Given the description of an element on the screen output the (x, y) to click on. 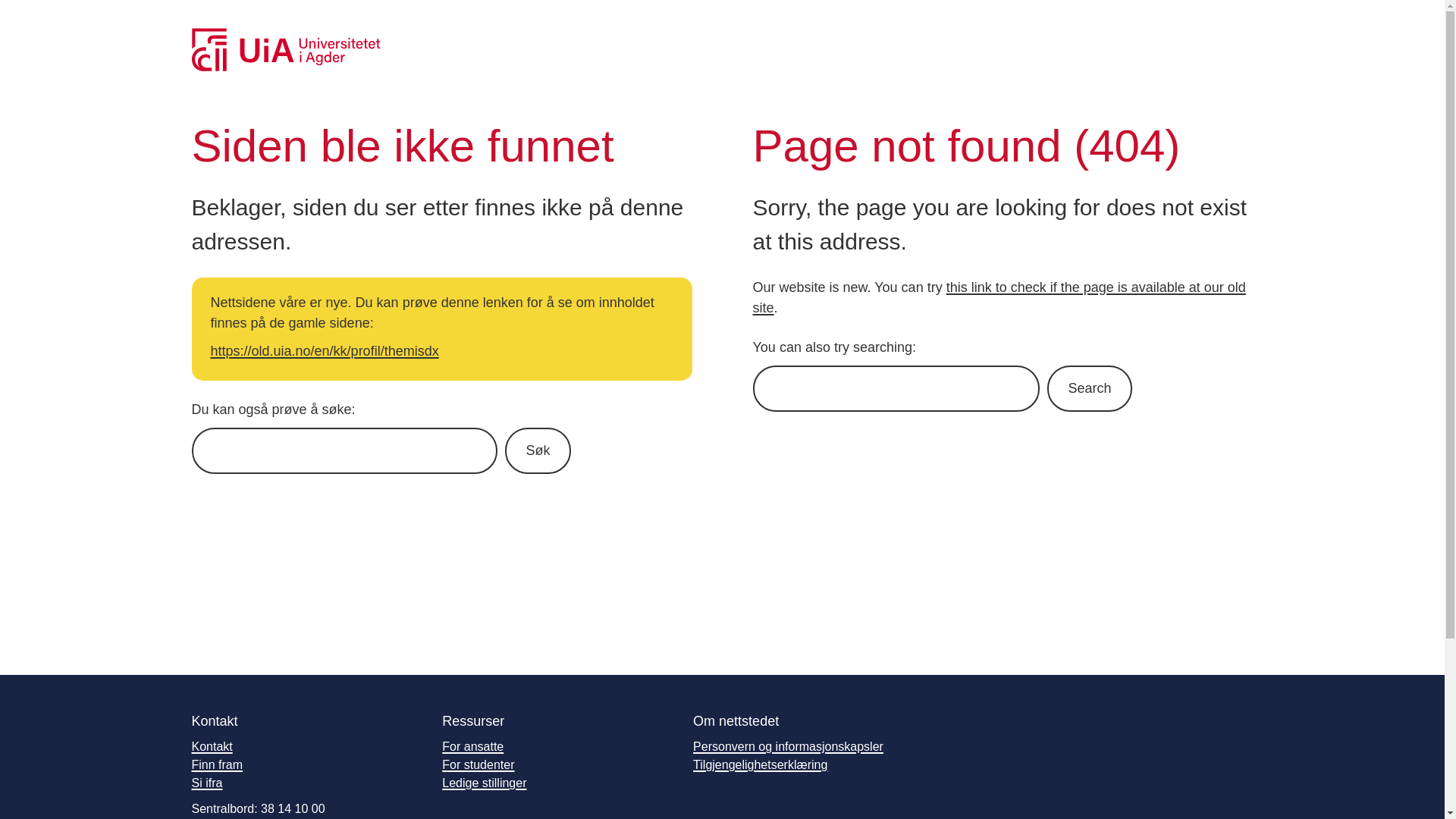
Kontakt (210, 746)
Personvern og informasjonskapsler (788, 746)
For studenter (477, 764)
Finn fram (216, 764)
For ansatte (472, 746)
Search (1088, 388)
this link to check if the page is available at our old site (998, 297)
Ledige stillinger (483, 782)
Si ifra (206, 782)
